Given the description of an element on the screen output the (x, y) to click on. 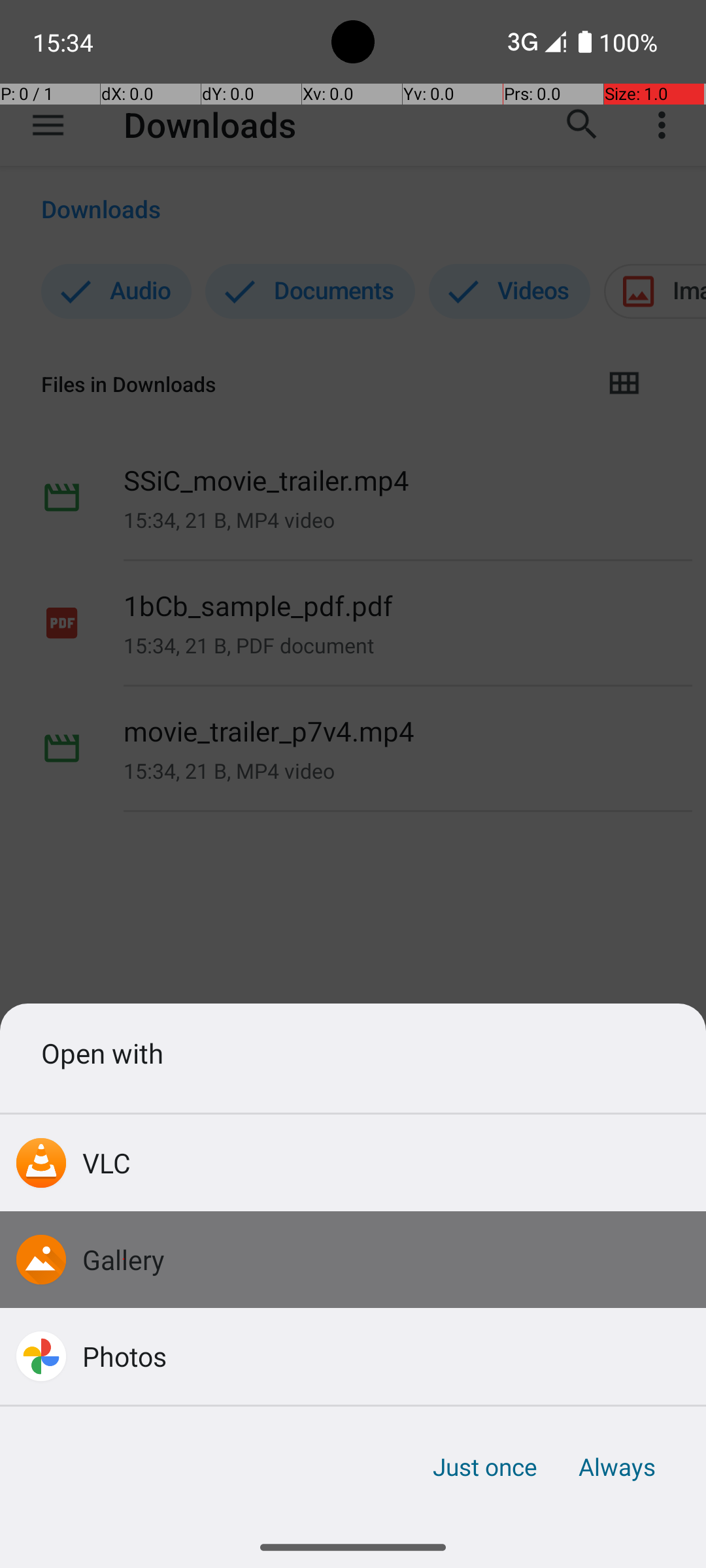
Open with Element type: android.widget.TextView (352, 1052)
Just once Element type: android.widget.Button (484, 1466)
Always Element type: android.widget.Button (616, 1466)
VLC Element type: android.widget.TextView (106, 1162)
Gallery Element type: android.widget.TextView (123, 1258)
